Given the description of an element on the screen output the (x, y) to click on. 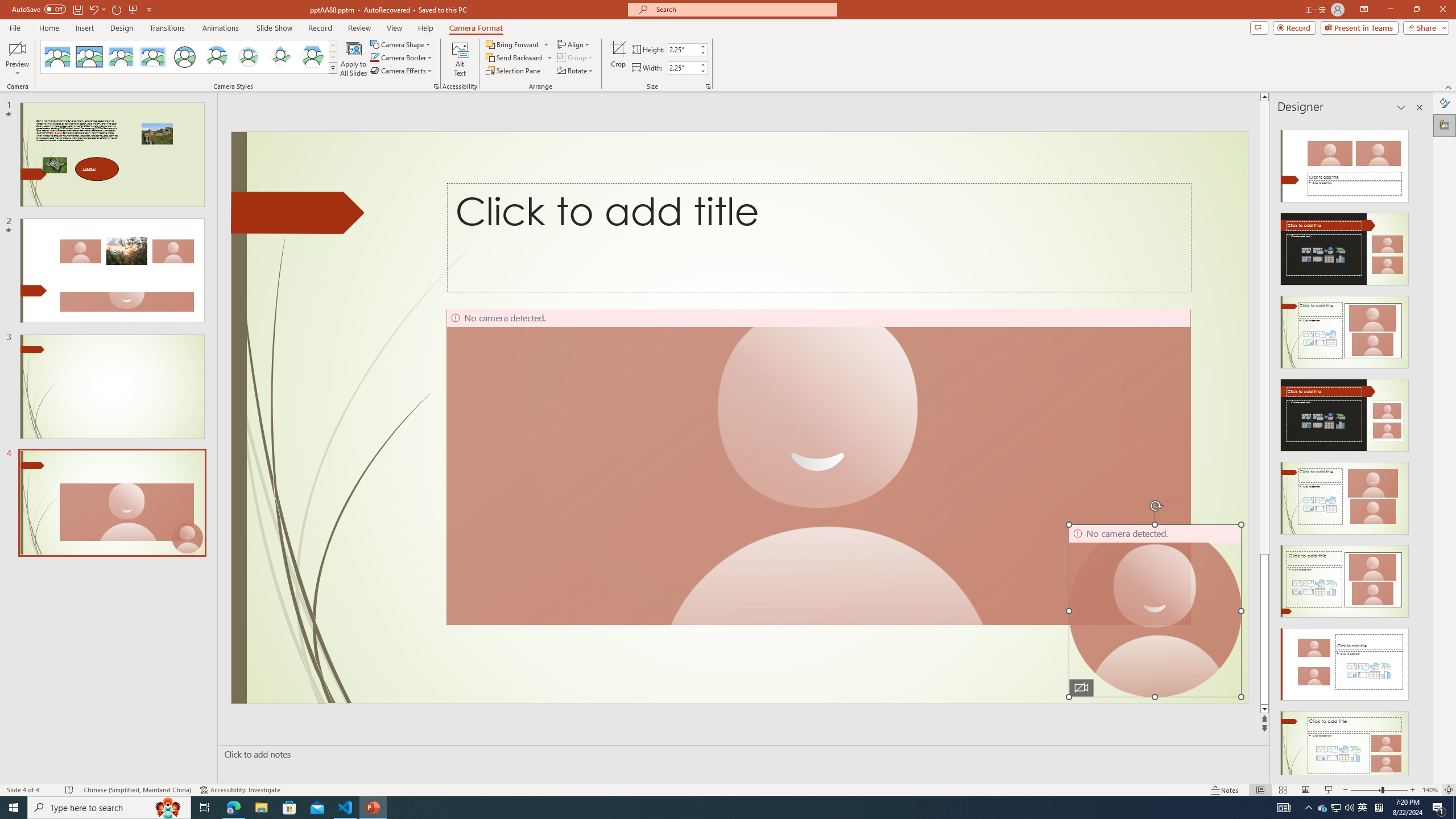
Center Shadow Hexagon (312, 56)
Camera Format (475, 28)
Zoom 140% (1430, 790)
Center Shadow Diamond (280, 56)
